Given the description of an element on the screen output the (x, y) to click on. 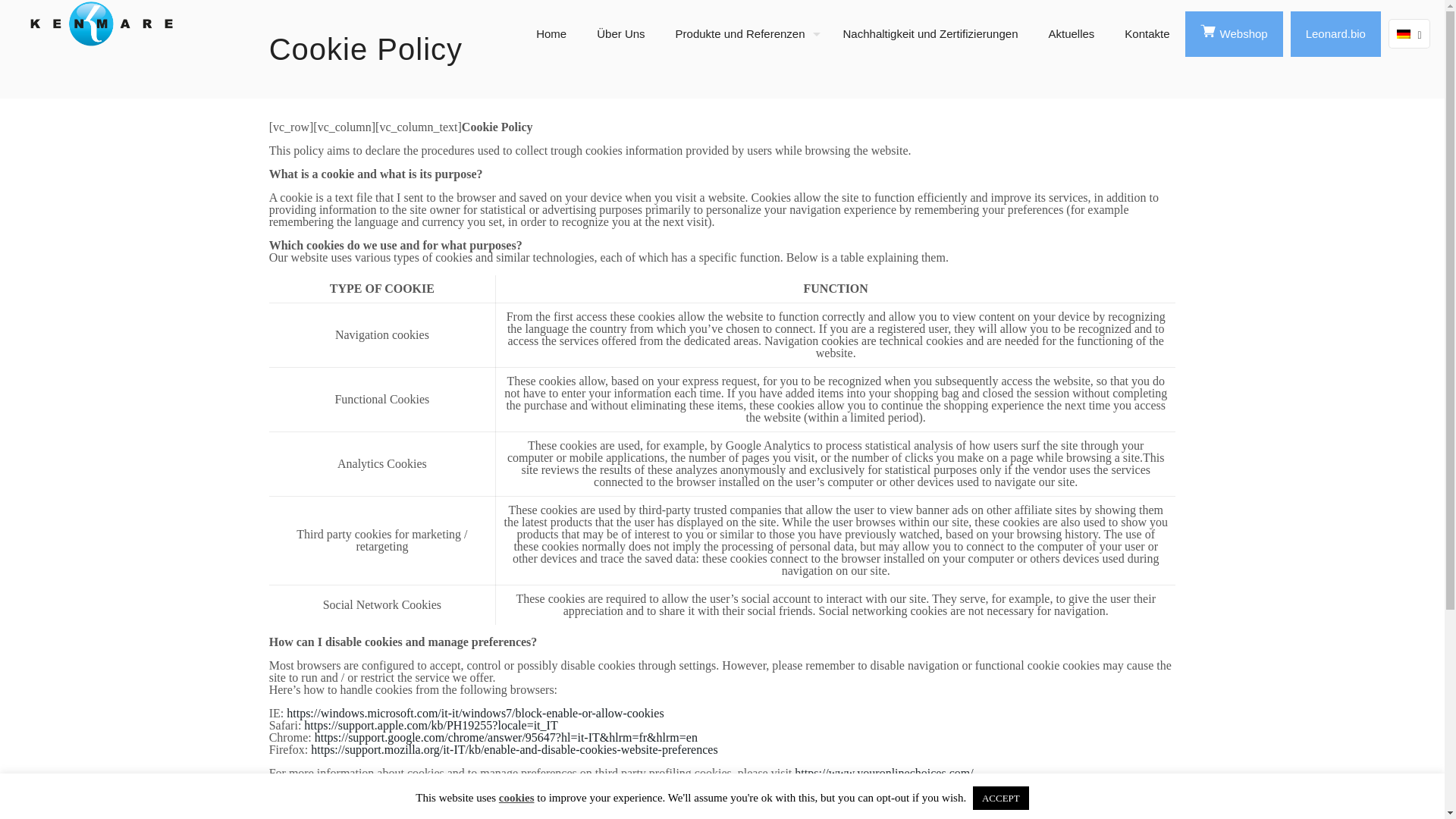
Home (550, 33)
Nachhaltigkeit und Zertifizierungen (930, 33)
Kenmare (120, 22)
Kontakte (1147, 33)
Aktuelles (1070, 33)
Leonard.bio (1335, 33)
Produkte und Referenzen (744, 33)
Webshop (1233, 33)
